Given the description of an element on the screen output the (x, y) to click on. 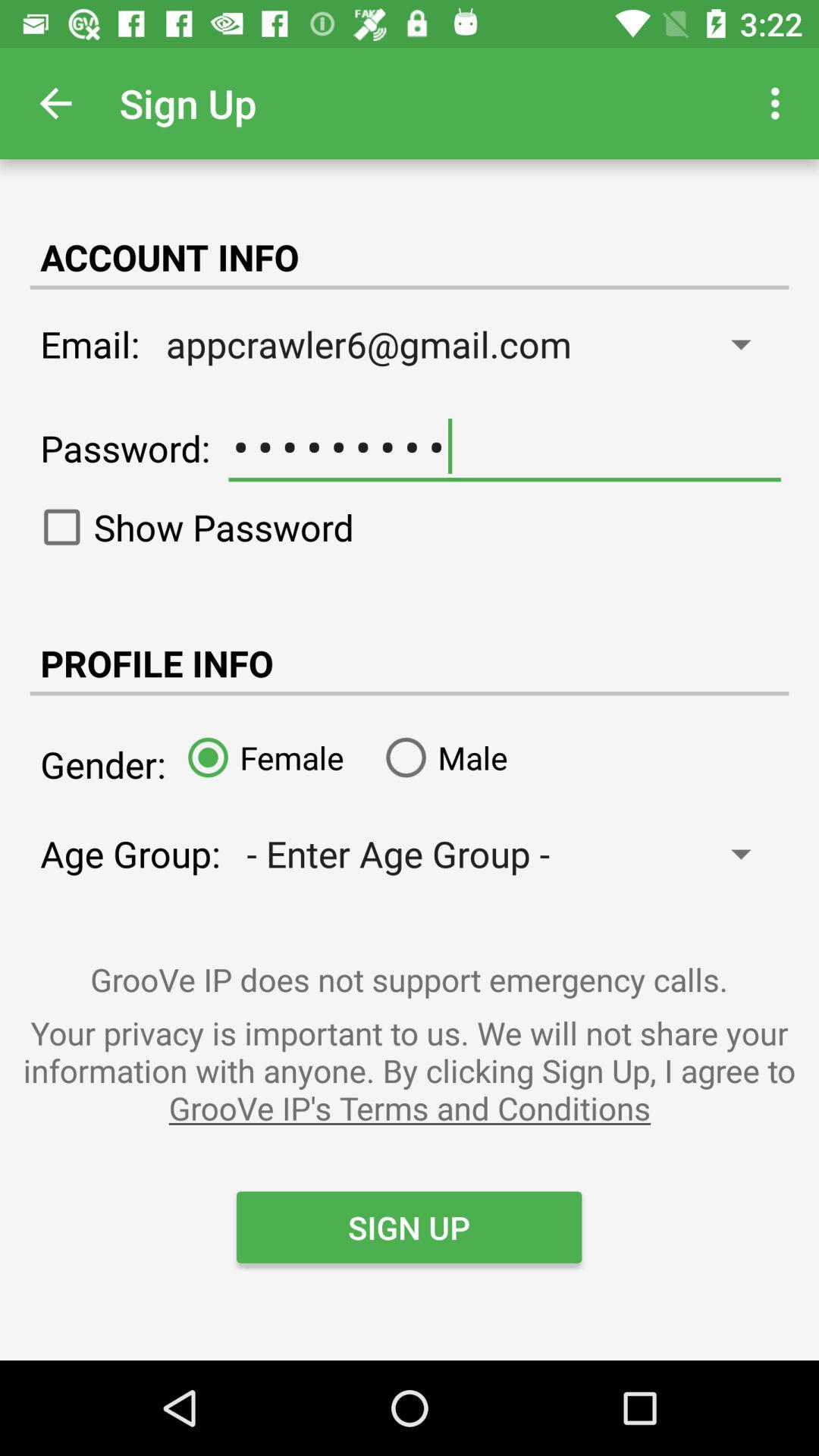
choose crowd3116 (504, 446)
